Given the description of an element on the screen output the (x, y) to click on. 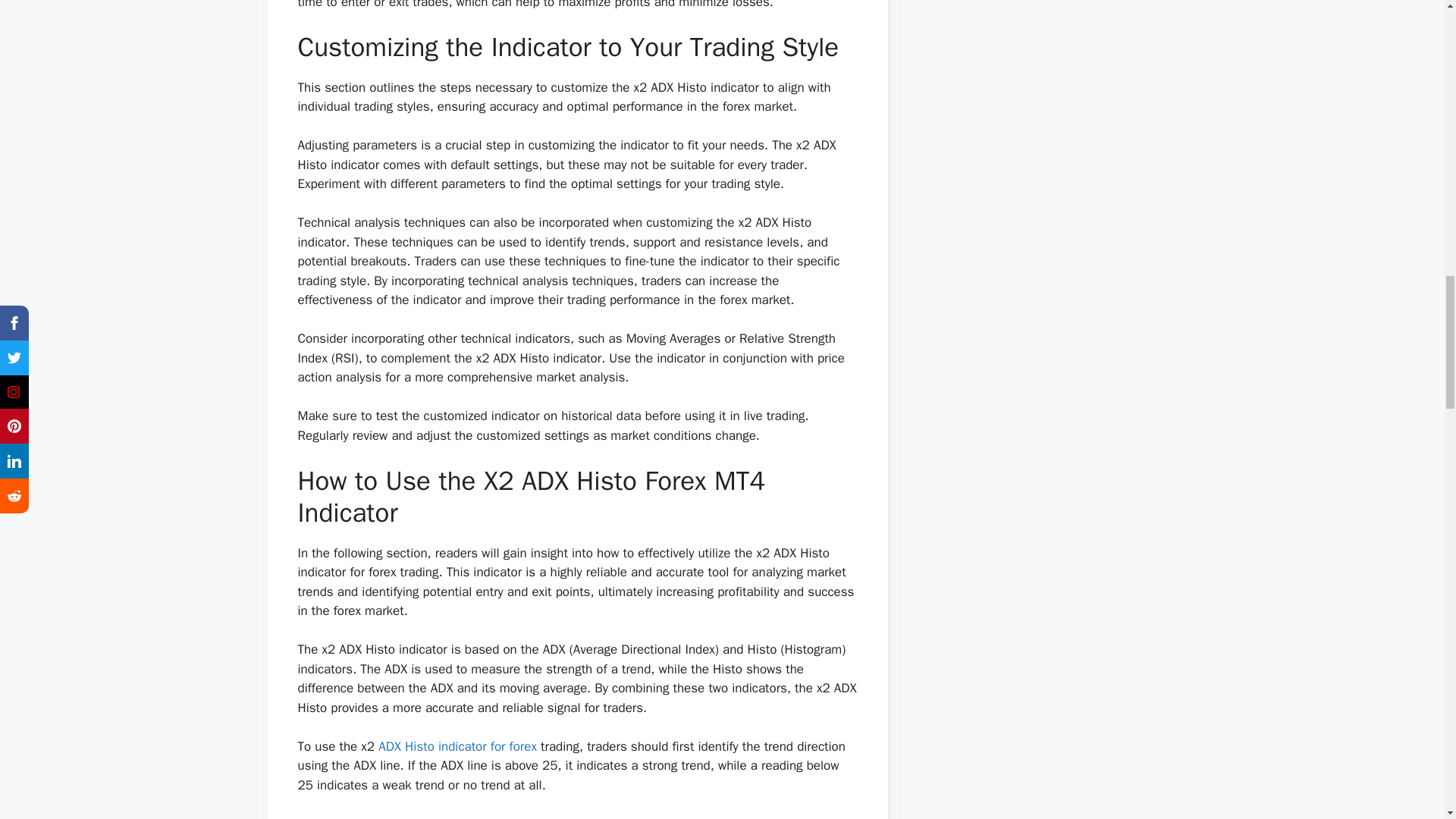
ADX Histo indicator for forex (457, 746)
